Given the description of an element on the screen output the (x, y) to click on. 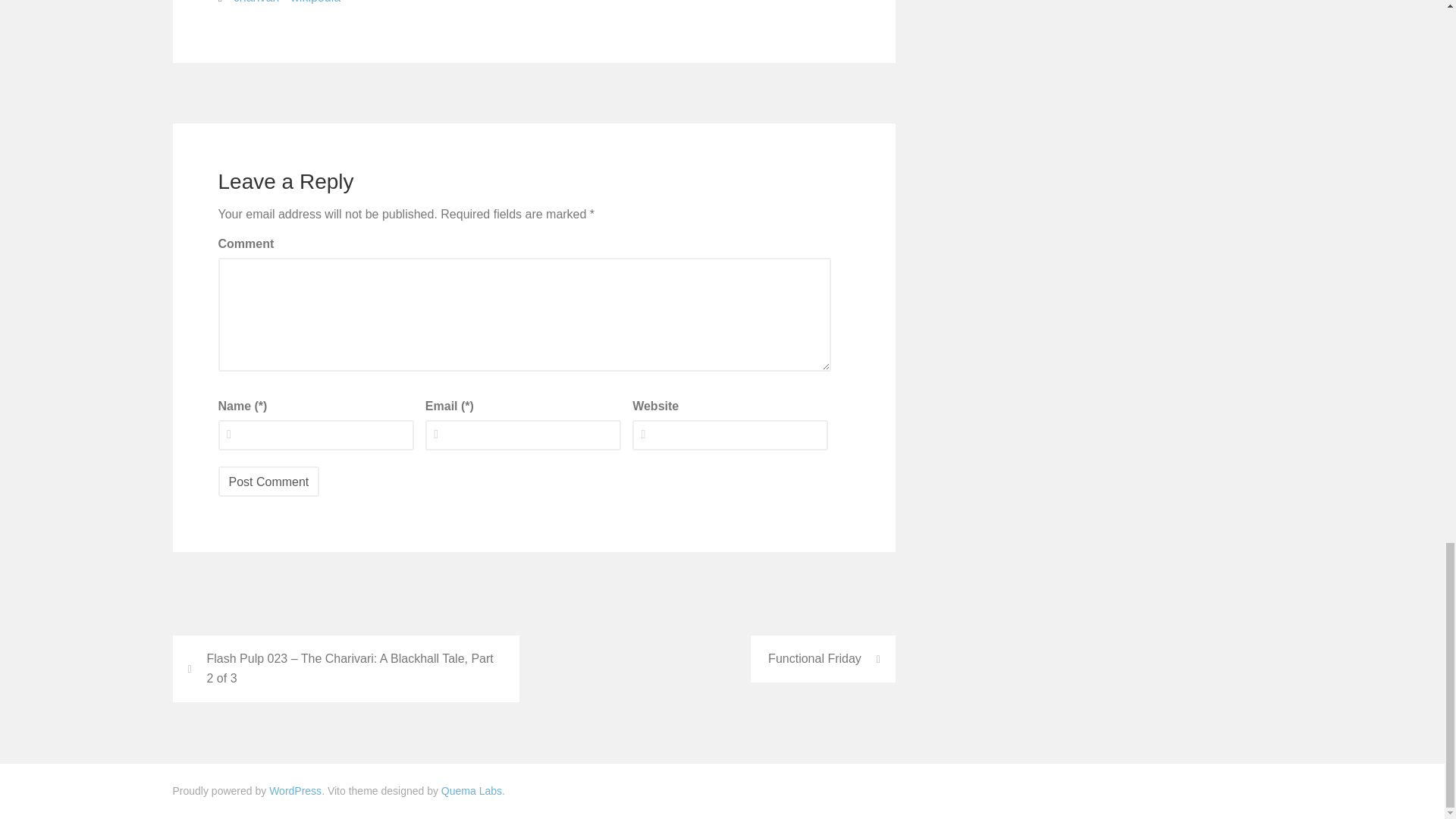
wikipedia (314, 3)
Quema Labs (471, 790)
charivari (255, 3)
Functional Friday (823, 658)
Post Comment (269, 481)
Post Comment (269, 481)
WordPress (295, 790)
